Given the description of an element on the screen output the (x, y) to click on. 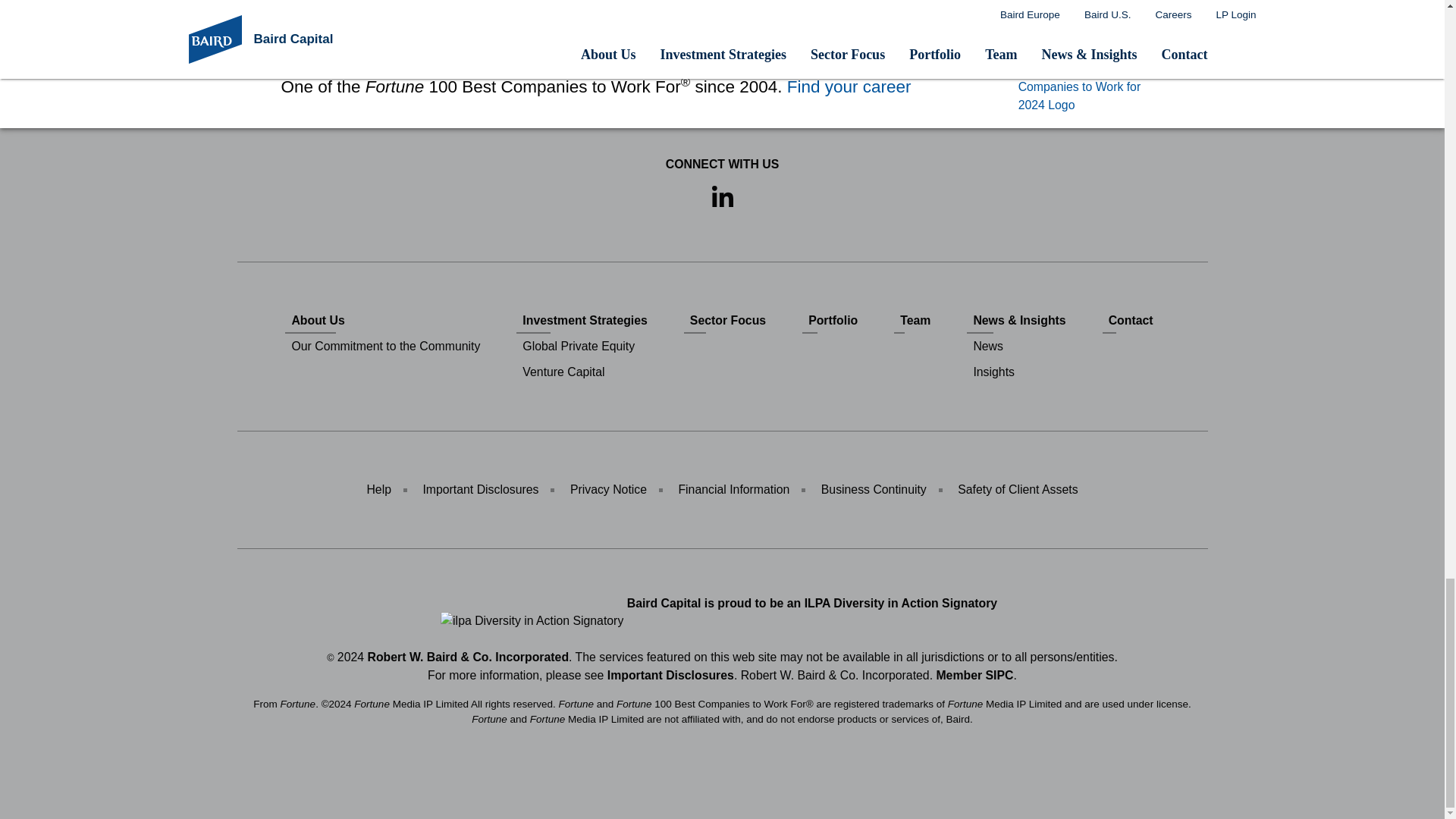
About Us (385, 320)
Contact (1130, 320)
Investment Strategies (584, 320)
